Given the description of an element on the screen output the (x, y) to click on. 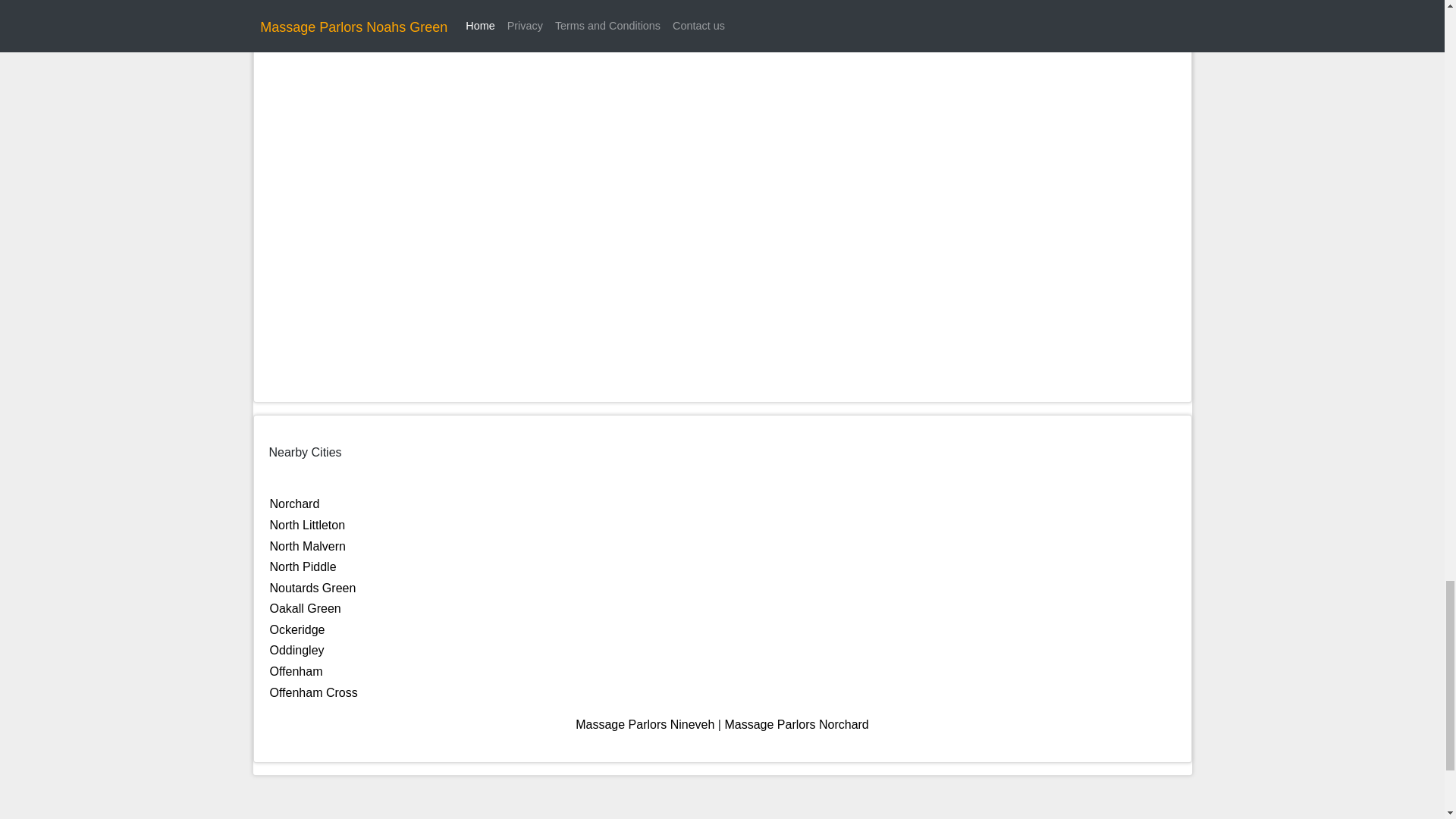
North Littleton (307, 524)
North Malvern (307, 545)
Offenham Cross (313, 692)
Oakall Green (304, 608)
Oddingley (296, 649)
Ockeridge (296, 629)
North Piddle (302, 566)
Norchard (294, 503)
Massage Parlors Norchard (795, 724)
Massage Parlors Nineveh (644, 724)
Noutards Green (312, 587)
Offenham (296, 671)
